Given the description of an element on the screen output the (x, y) to click on. 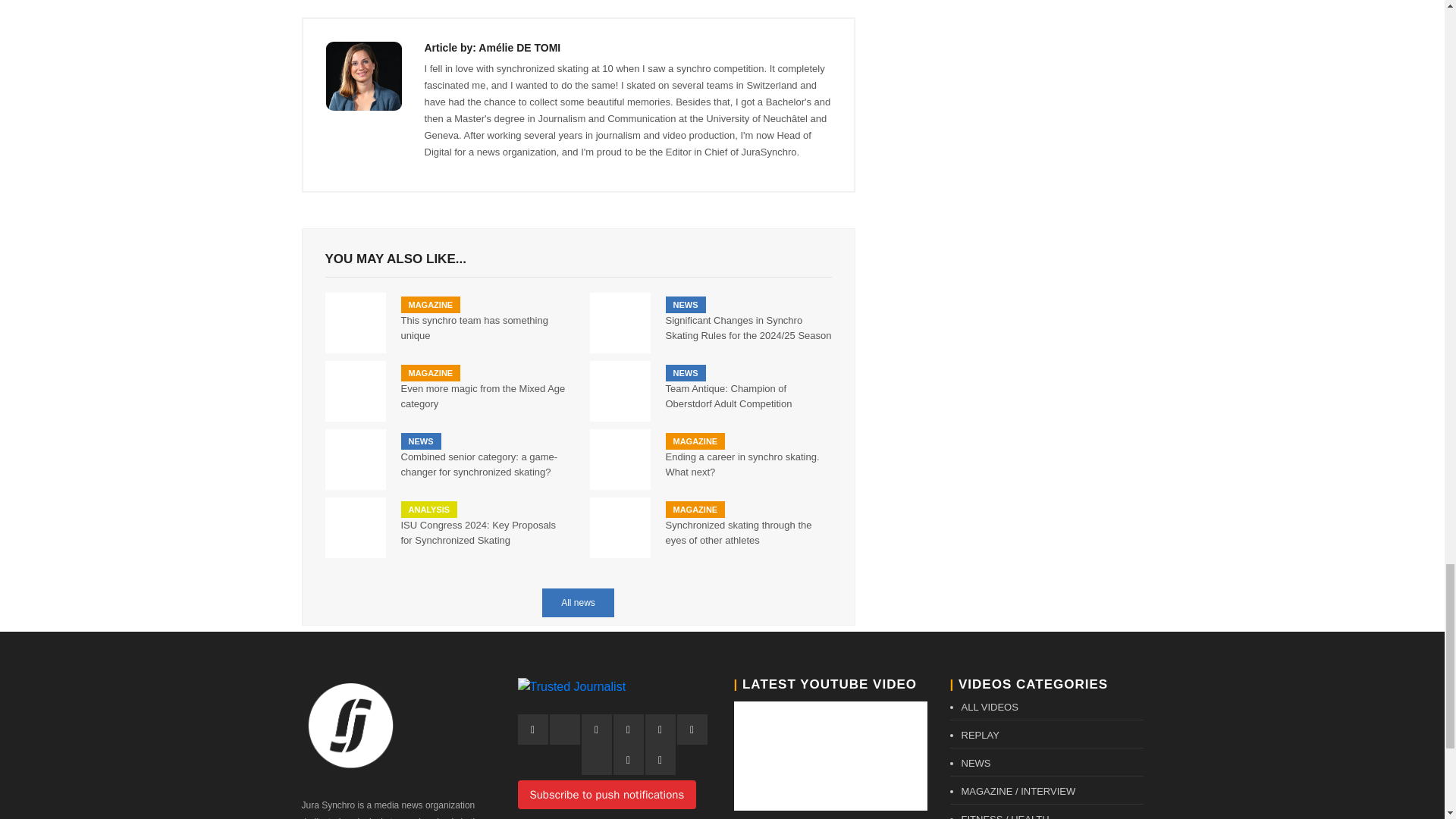
NEWS (420, 441)
MAGAZINE (430, 304)
This synchro team has something unique (483, 327)
Even more magic from the Mixed Age category (483, 396)
MAGAZINE (430, 372)
